Given the description of an element on the screen output the (x, y) to click on. 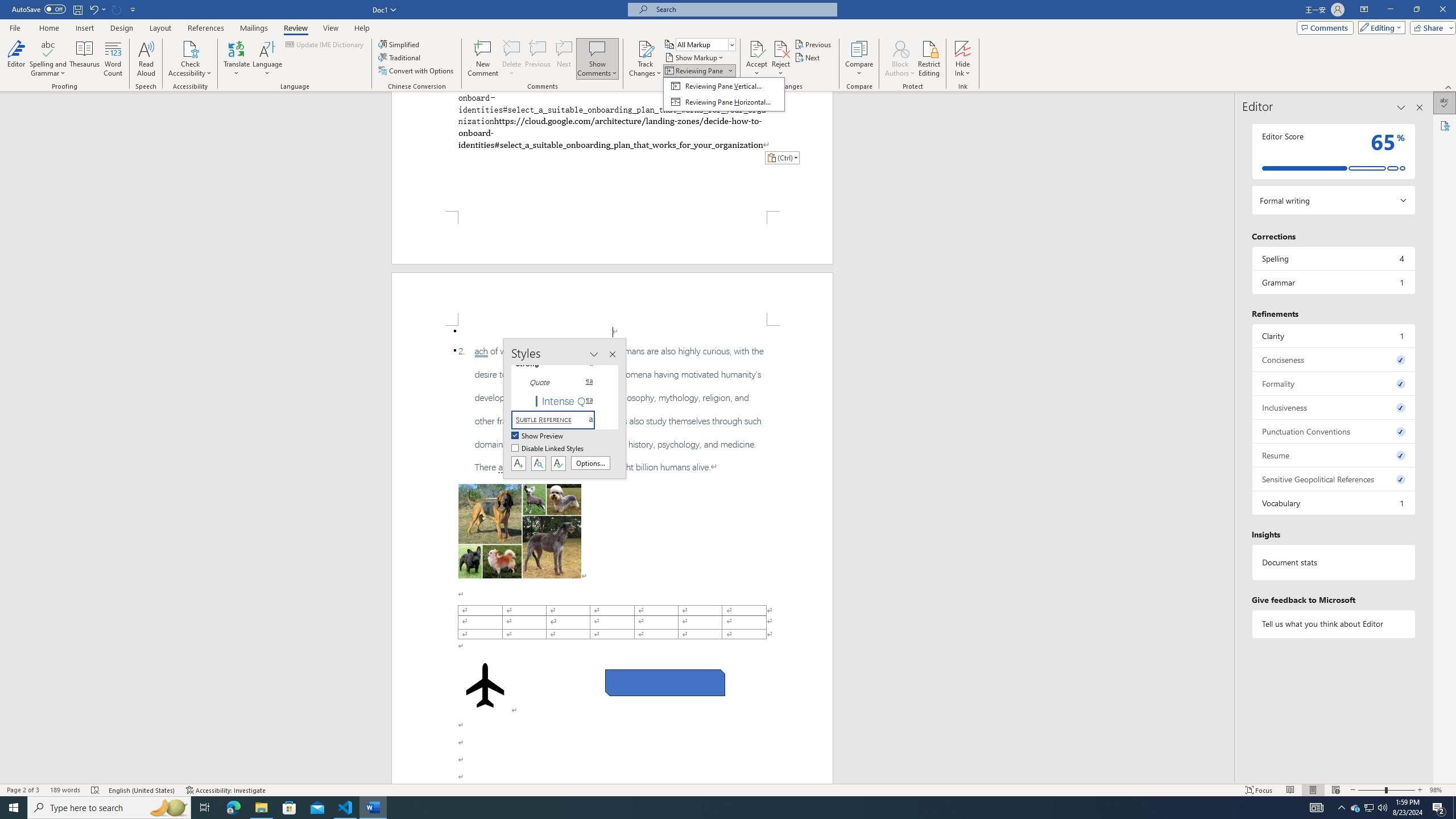
Display for Review (705, 44)
Can't Repeat (117, 9)
Formality, 0 issues. Press space or enter to review items. (1333, 383)
Tell us what you think about Editor (1333, 624)
Delete (511, 48)
Accept and Move to Next (756, 48)
Reviewing Pane (698, 69)
